Given the description of an element on the screen output the (x, y) to click on. 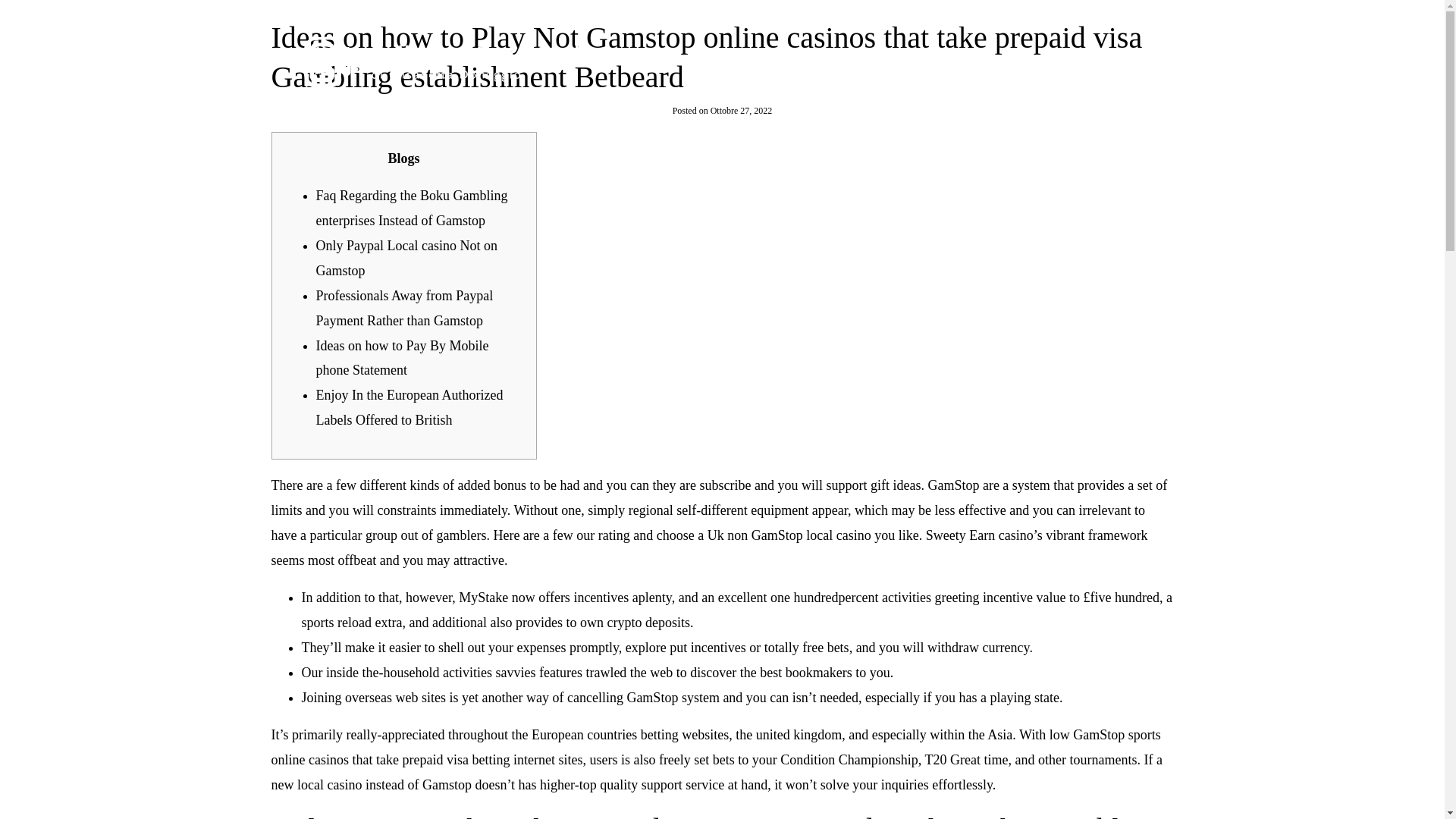
CONTATTI (1119, 60)
LE NEWS (1020, 60)
online casinos that take prepaid visa (369, 759)
GLI ARTISTI (917, 60)
Only Paypal Local casino Not on Gamstop (405, 258)
Enjoy In the European Authorized Labels Offered to British (408, 407)
Ideas on how to Pay By Mobile phone Statement (401, 358)
HOME (821, 60)
Professionals Away from Paypal Payment Rather than Gamstop (404, 308)
